Given the description of an element on the screen output the (x, y) to click on. 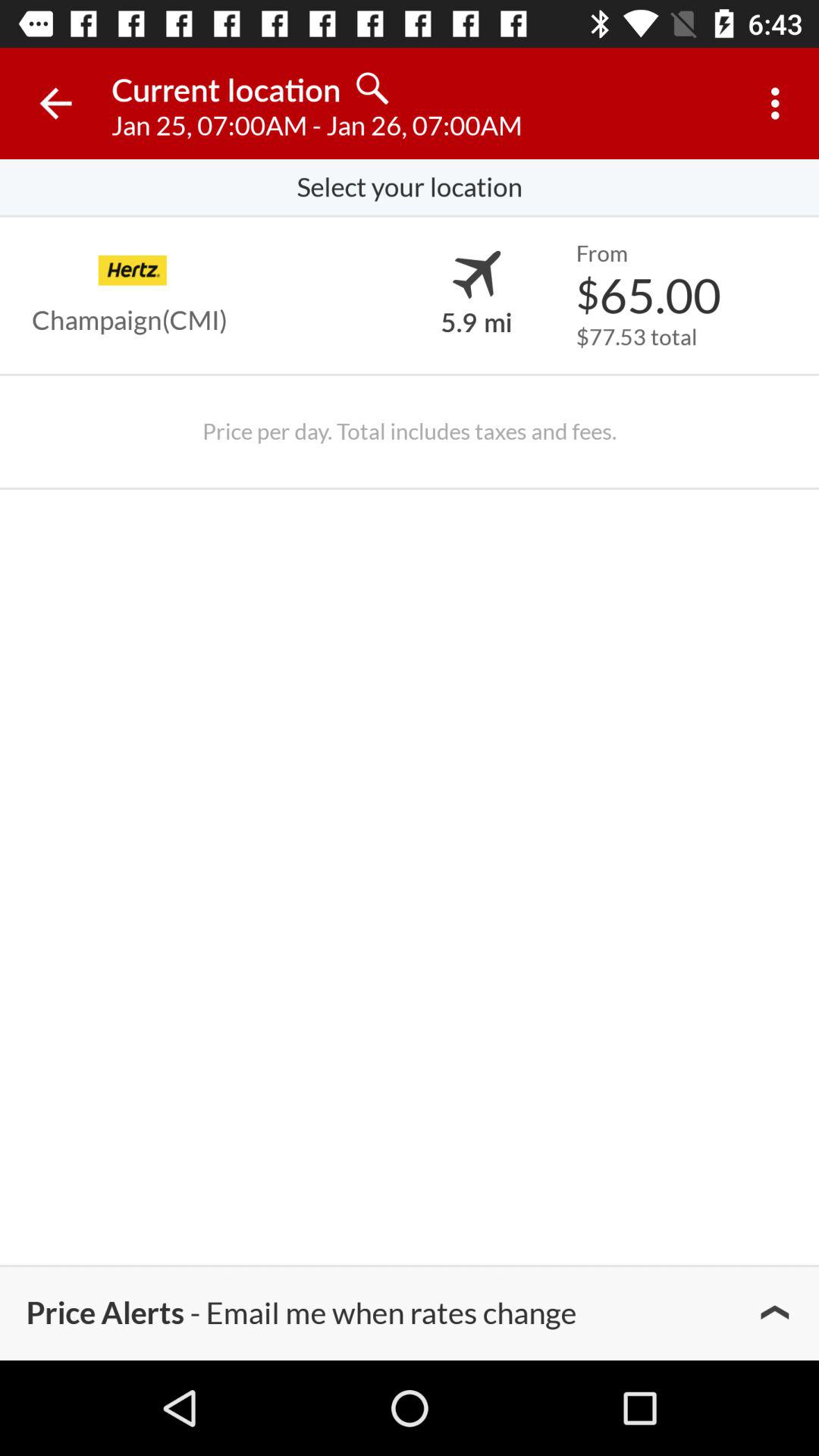
turn off the item above select your location (779, 103)
